Given the description of an element on the screen output the (x, y) to click on. 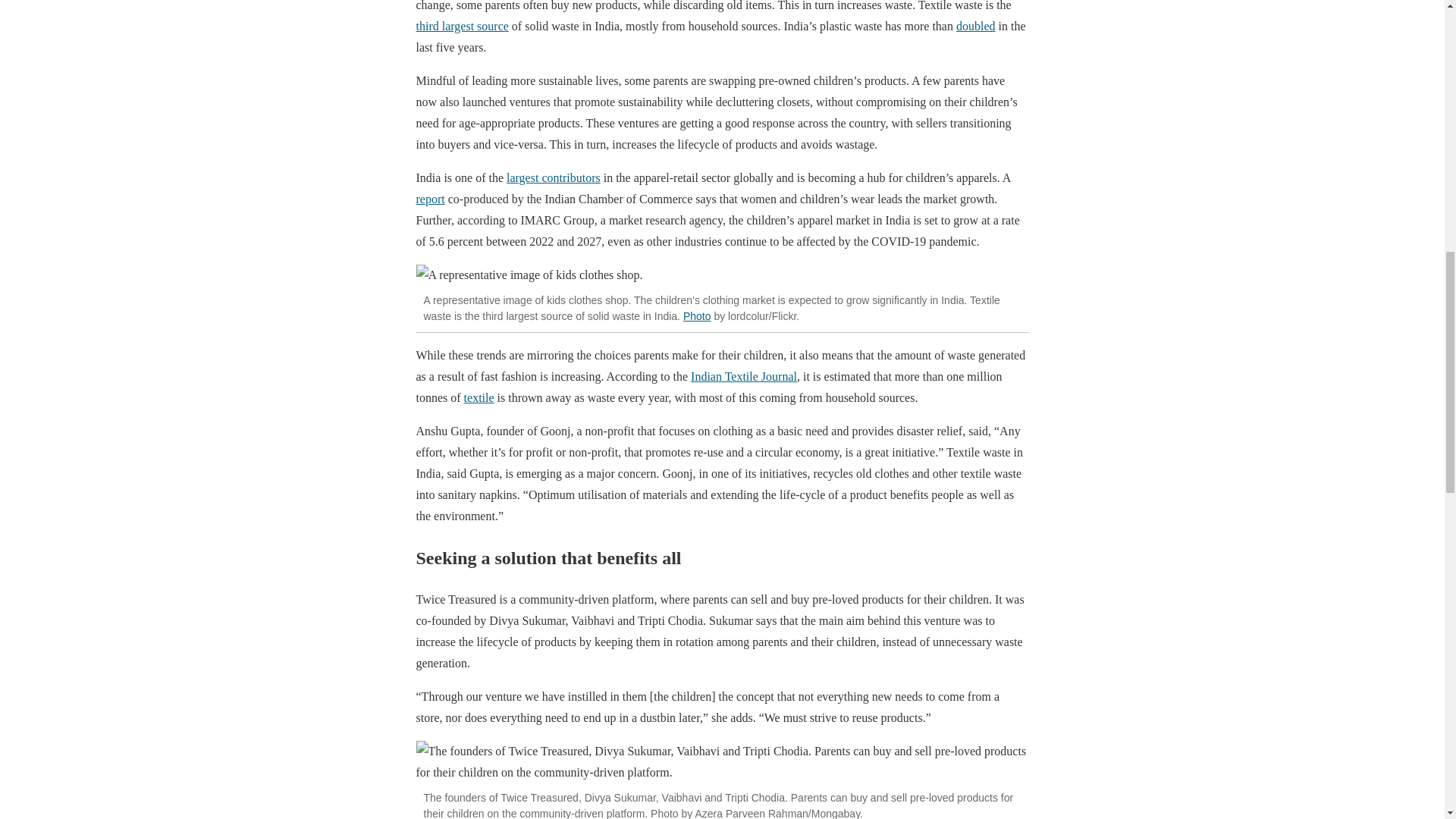
textile (479, 397)
Photo (696, 316)
third largest source (461, 25)
report (429, 198)
Indian Textile Journal (743, 376)
largest contributors (552, 177)
doubled (975, 25)
